Given the description of an element on the screen output the (x, y) to click on. 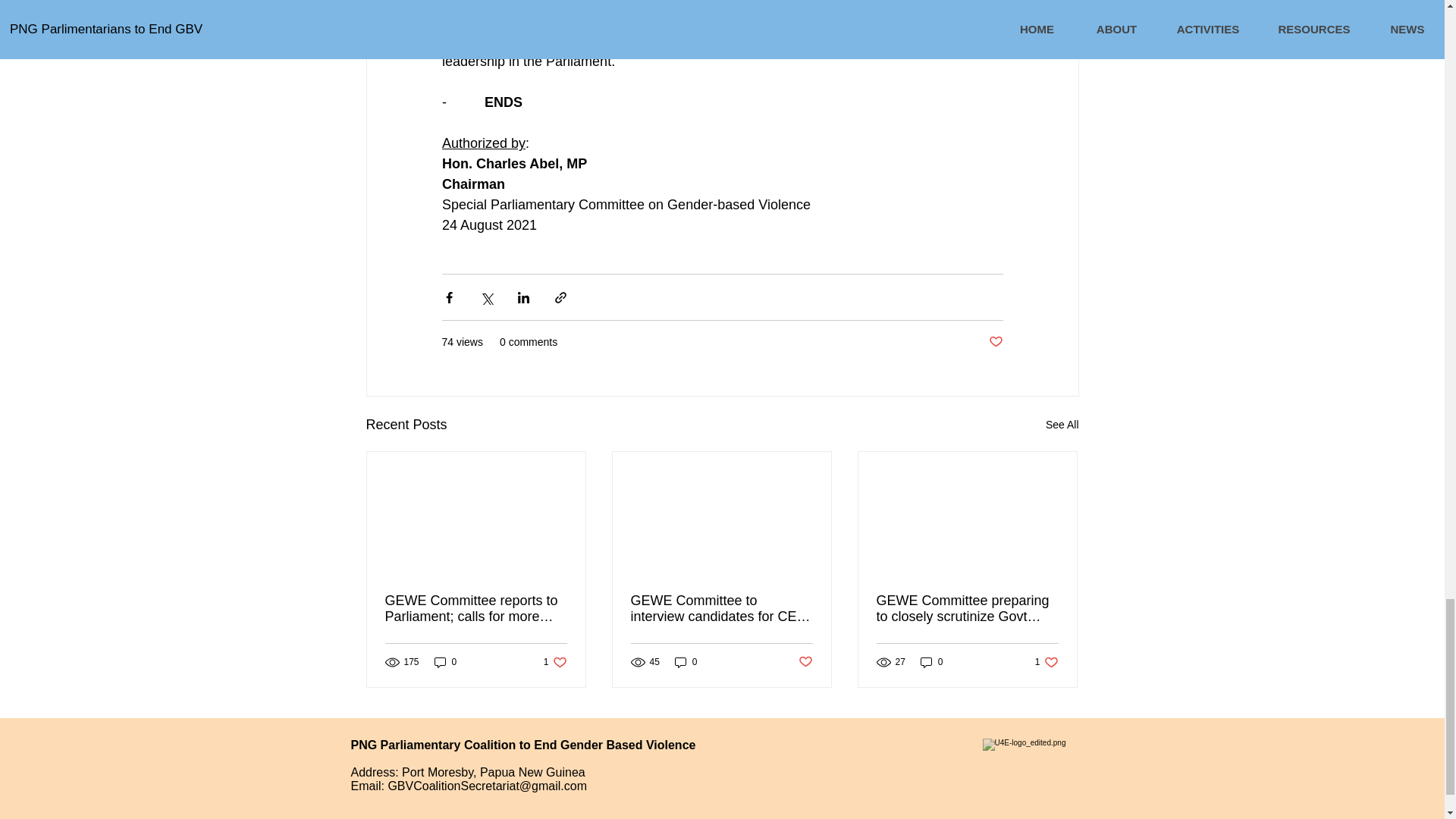
Post not marked as liked (804, 662)
0 (685, 662)
0 (931, 662)
0 (1046, 662)
See All (445, 662)
Post not marked as liked (555, 662)
